Given the description of an element on the screen output the (x, y) to click on. 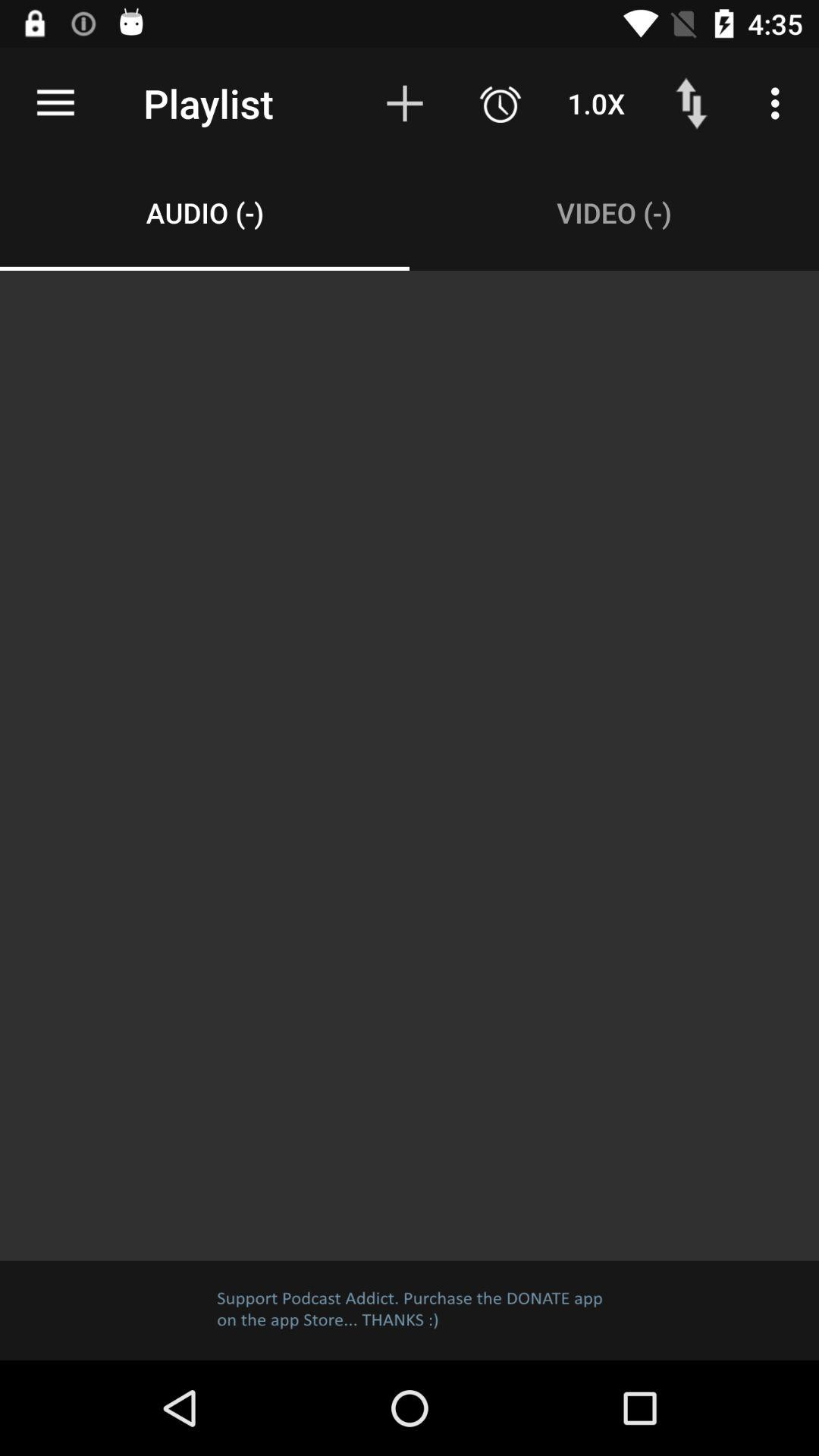
swipe to the 1.0x (595, 103)
